Given the description of an element on the screen output the (x, y) to click on. 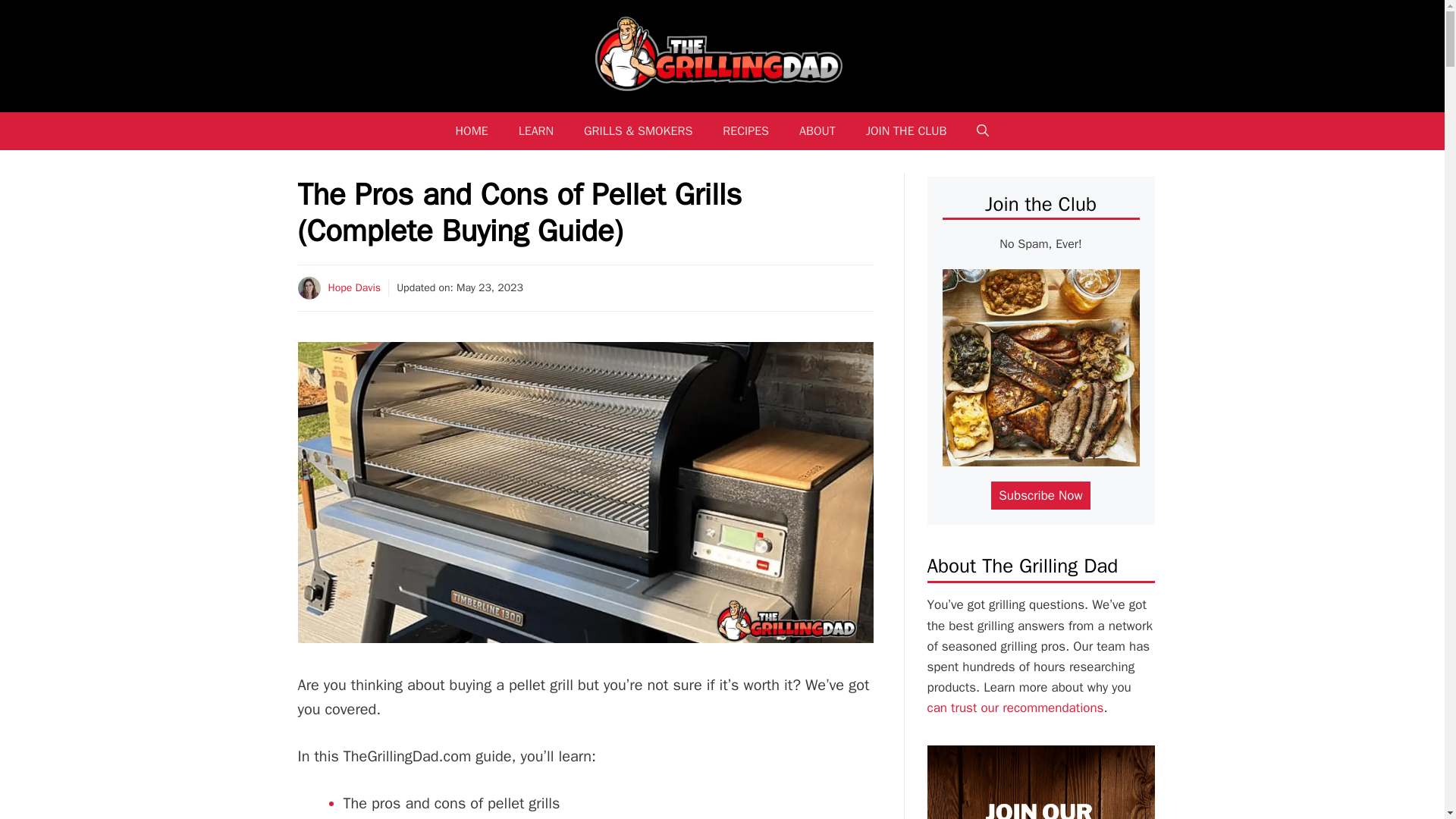
HOME (472, 130)
LEARN (536, 130)
Hope Davis (353, 287)
RECIPES (745, 130)
JOIN THE CLUB (906, 130)
ABOUT (817, 130)
